Given the description of an element on the screen output the (x, y) to click on. 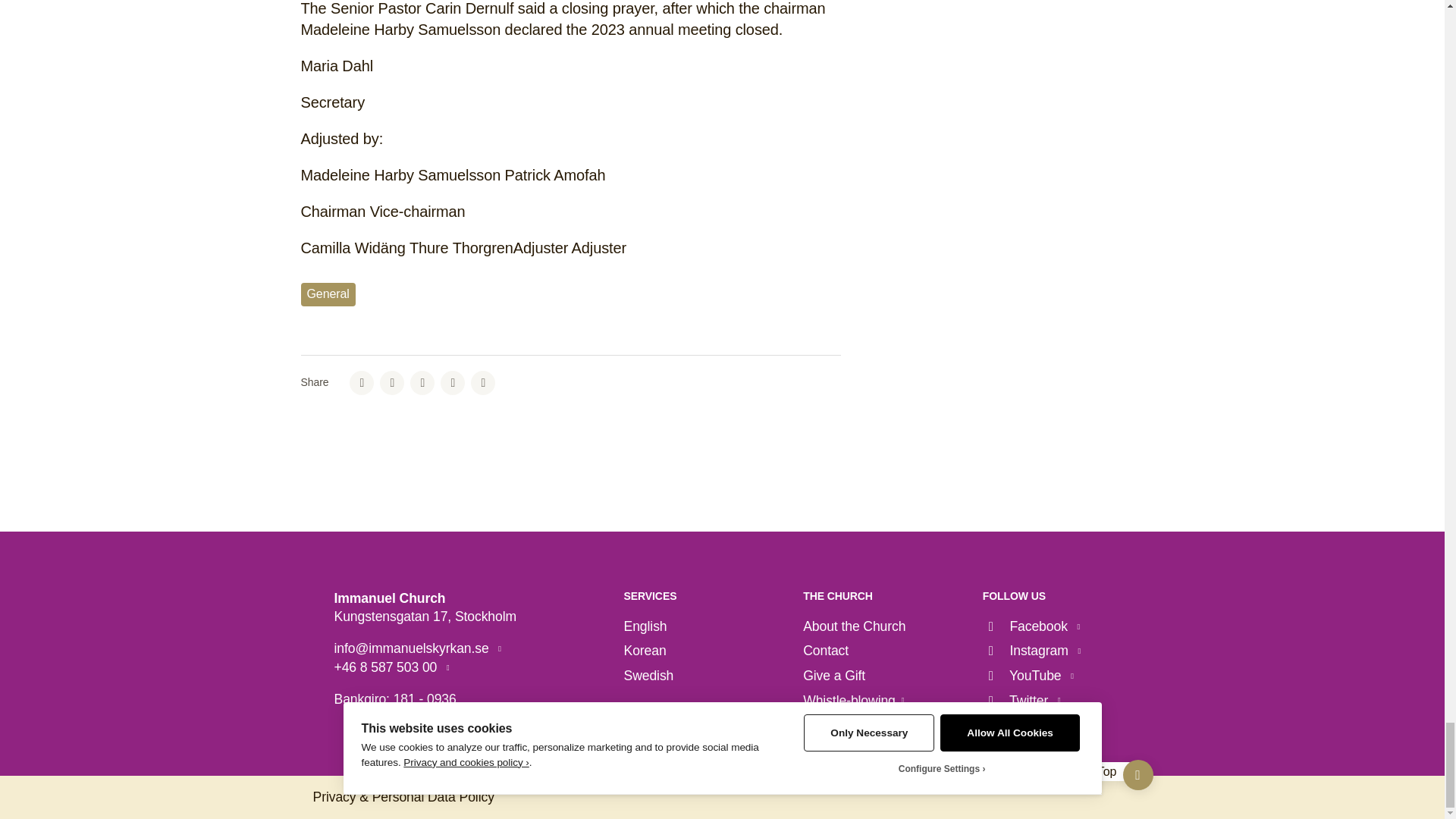
Go to Facebook and Follow Immanuelskyrkan (1031, 626)
Go to Instagram and Follow Immanuelskyrkan (1031, 650)
Go to YouTube and Subscribe to Immanuelskyrkan (1028, 675)
Go to Twitter and Follow Immanuelskyrkan (1021, 700)
